Given the description of an element on the screen output the (x, y) to click on. 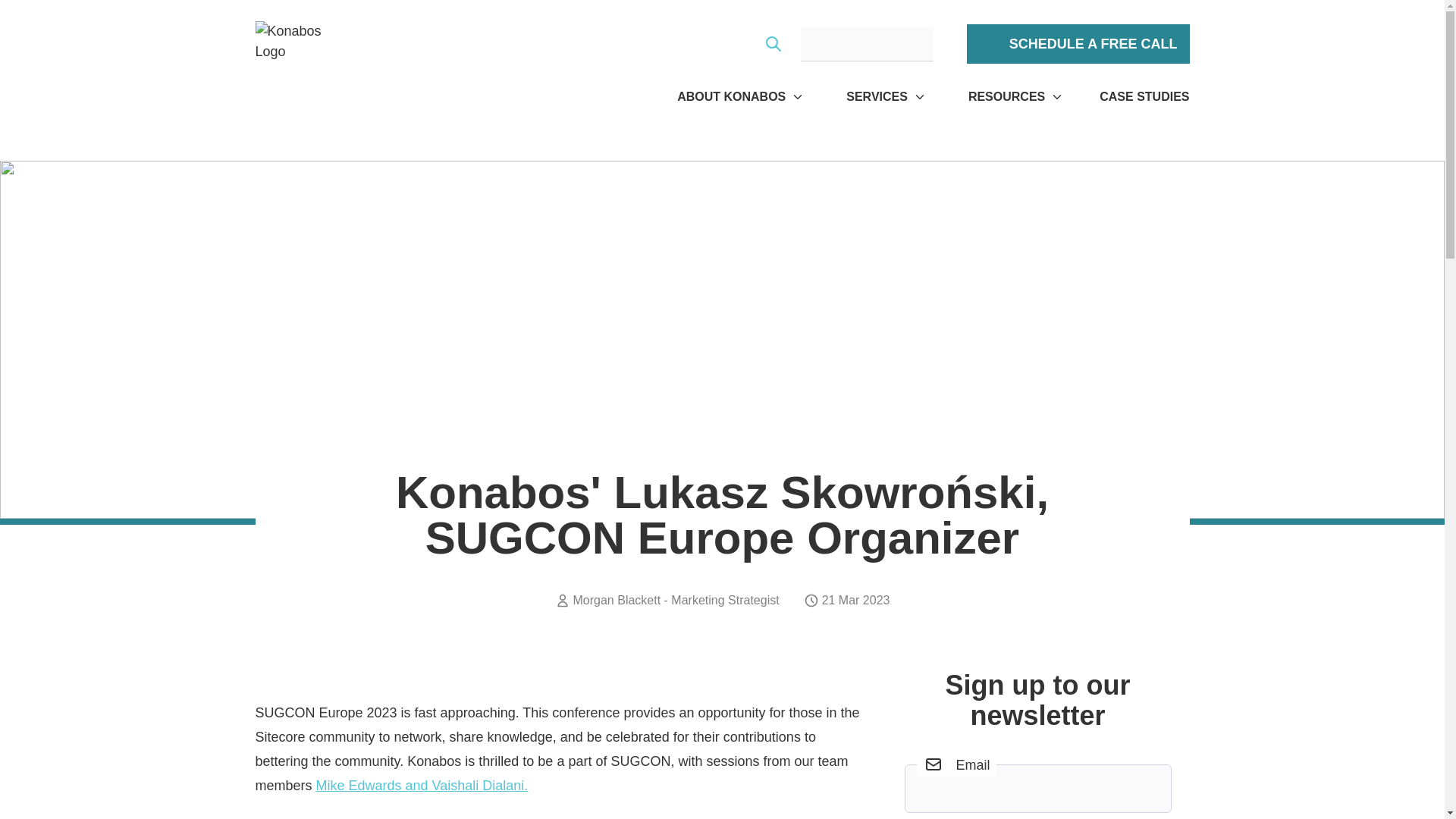
Konabos Logo (296, 63)
Mike Edwards and Vaishali Dialani. (421, 785)
CASE STUDIES (1144, 96)
Search (773, 44)
SCHEDULE A FREE CALL (1077, 43)
